Given the description of an element on the screen output the (x, y) to click on. 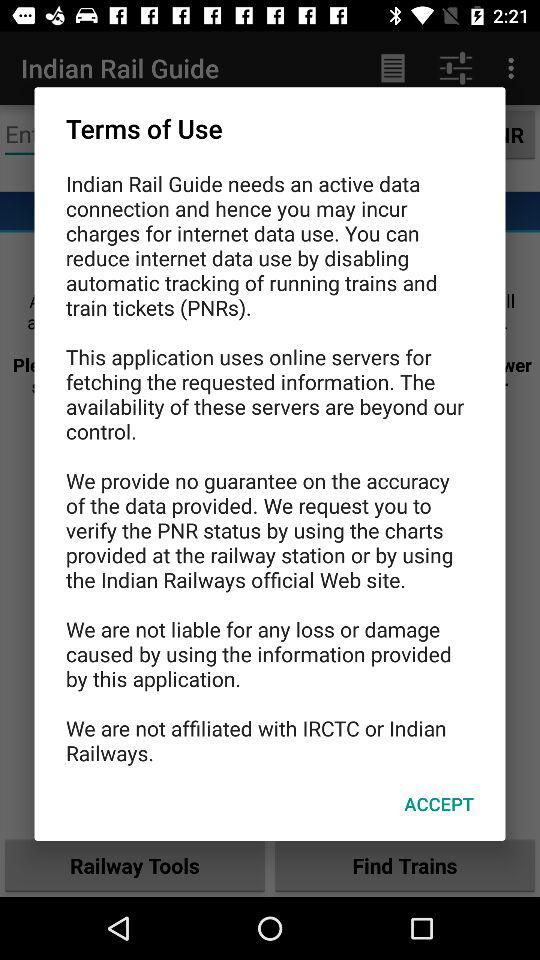
press accept (438, 803)
